Given the description of an element on the screen output the (x, y) to click on. 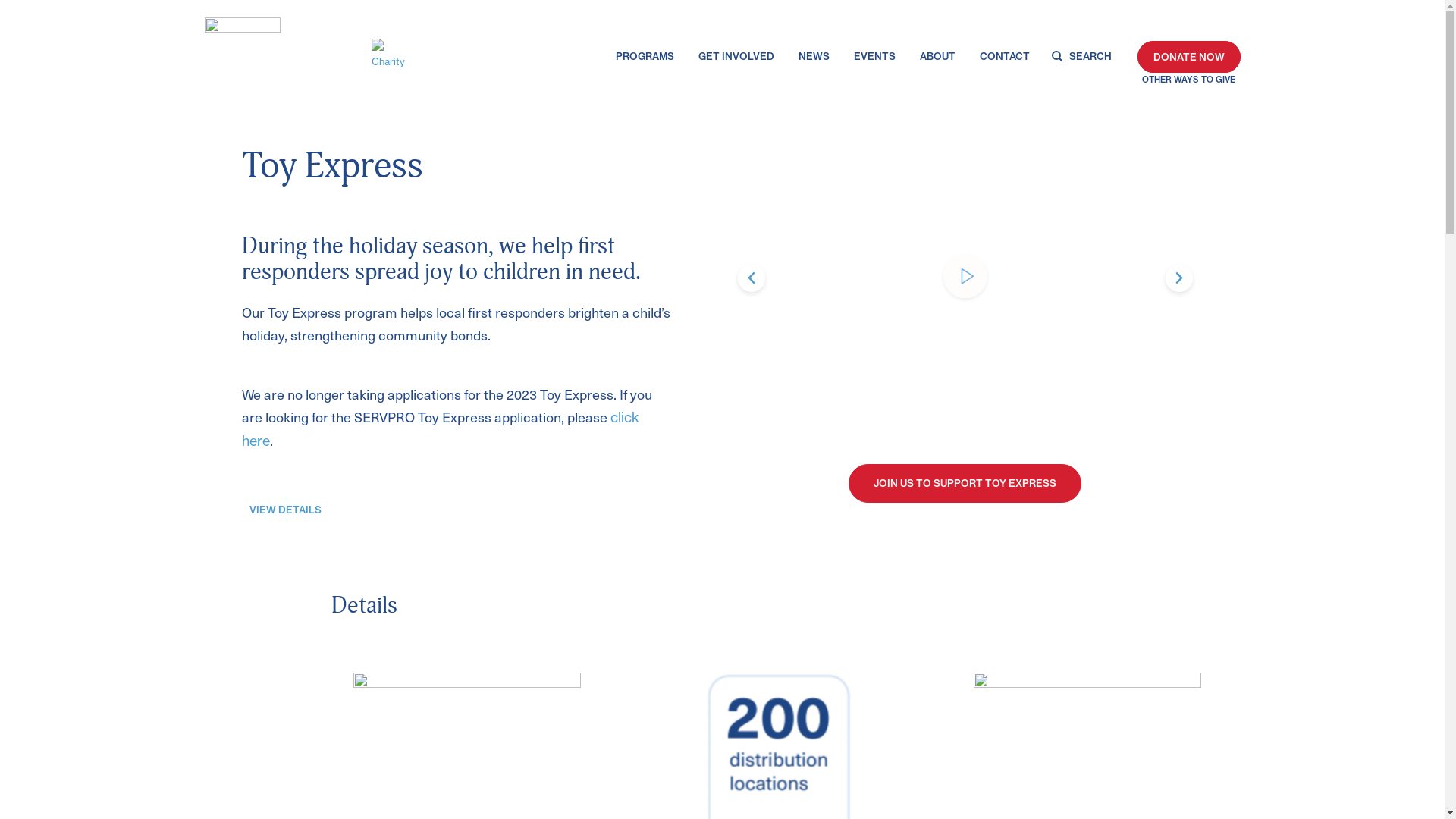
EVENTS Element type: text (874, 59)
OTHER WAYS TO GIVE Element type: text (1188, 80)
PROGRAMS Element type: text (644, 59)
CONTACT Element type: text (1004, 59)
GET INVOLVED Element type: text (736, 59)
VIEW DETAILS Element type: text (285, 510)
DONATE NOW Element type: text (1188, 56)
NEWS Element type: text (813, 59)
JOIN US TO SUPPORT TOY EXPRESS Element type: text (964, 483)
click here Element type: text (440, 428)
ABOUT Element type: text (937, 59)
